Given the description of an element on the screen output the (x, y) to click on. 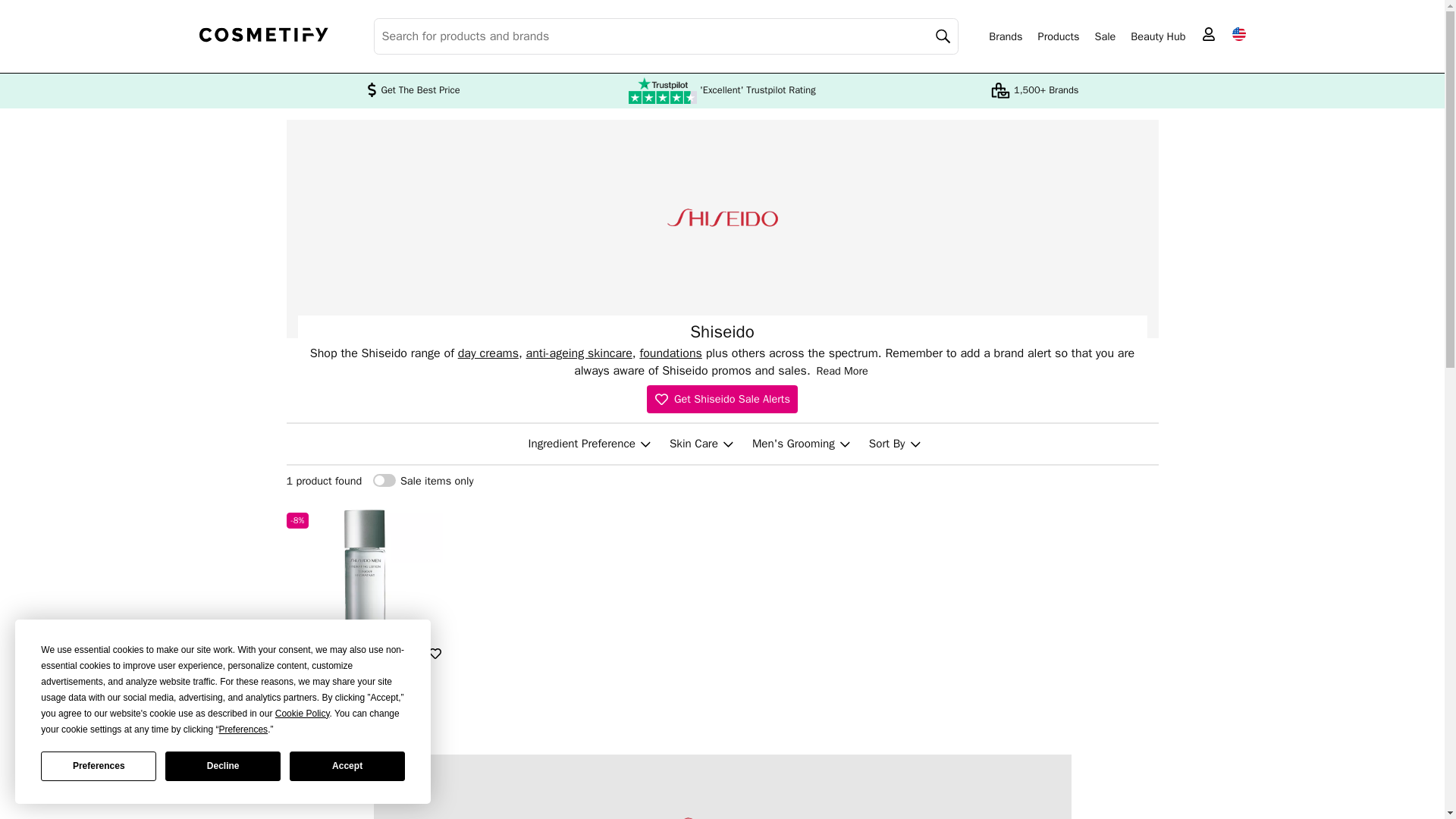
Preferences (97, 766)
Brands (1005, 36)
Sale (1104, 36)
Products (1059, 36)
Decline (223, 766)
Accept (346, 766)
Beauty Hub (1158, 36)
